Given the description of an element on the screen output the (x, y) to click on. 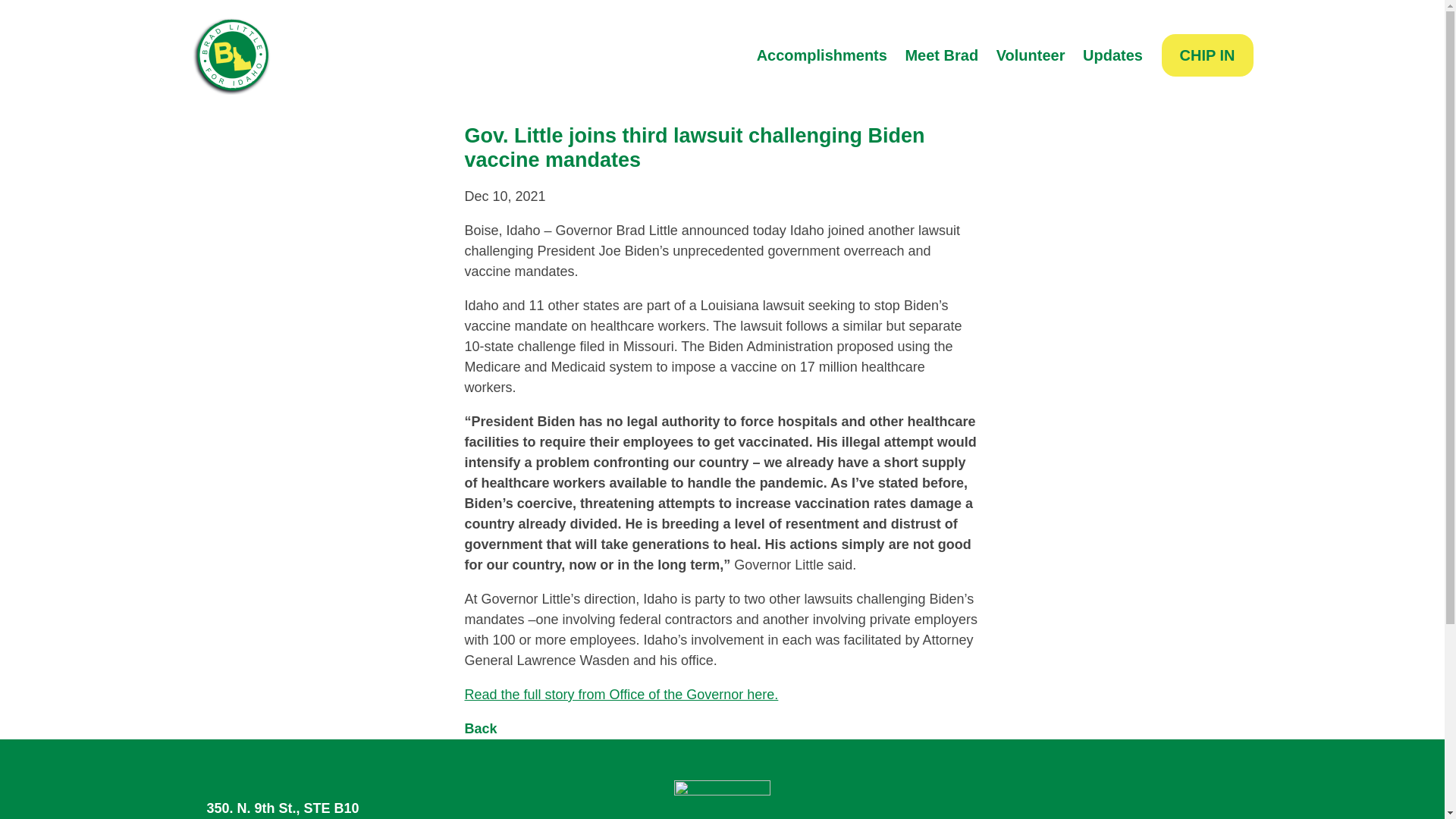
Updates (1112, 54)
Back (480, 728)
Read the full story from Office of the Governor here. (620, 694)
Accomplishments (821, 54)
CHIP IN (1207, 54)
Meet Brad (941, 54)
Volunteer (1030, 54)
